Given the description of an element on the screen output the (x, y) to click on. 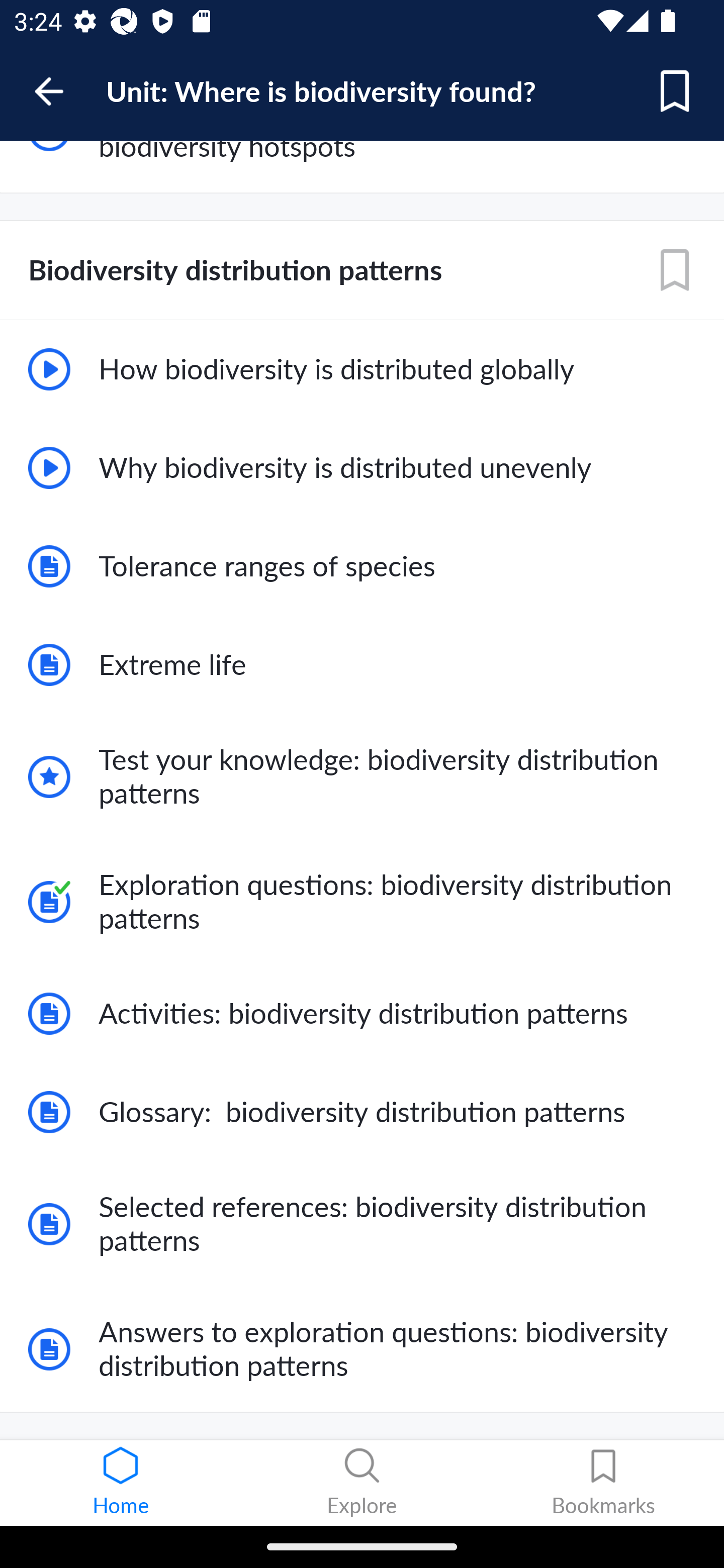
Back (58, 91)
Add Bookmark (674, 91)
Add Bookmark (674, 270)
How biodiversity is distributed globally (362, 368)
Why biodiversity is distributed unevenly (362, 467)
Tolerance ranges of species (362, 566)
Extreme life (362, 664)
Activities: biodiversity distribution patterns (362, 1013)
Glossary:  biodiversity distribution patterns (362, 1112)
Home (120, 1482)
Explore (361, 1482)
Bookmarks (603, 1482)
